Given the description of an element on the screen output the (x, y) to click on. 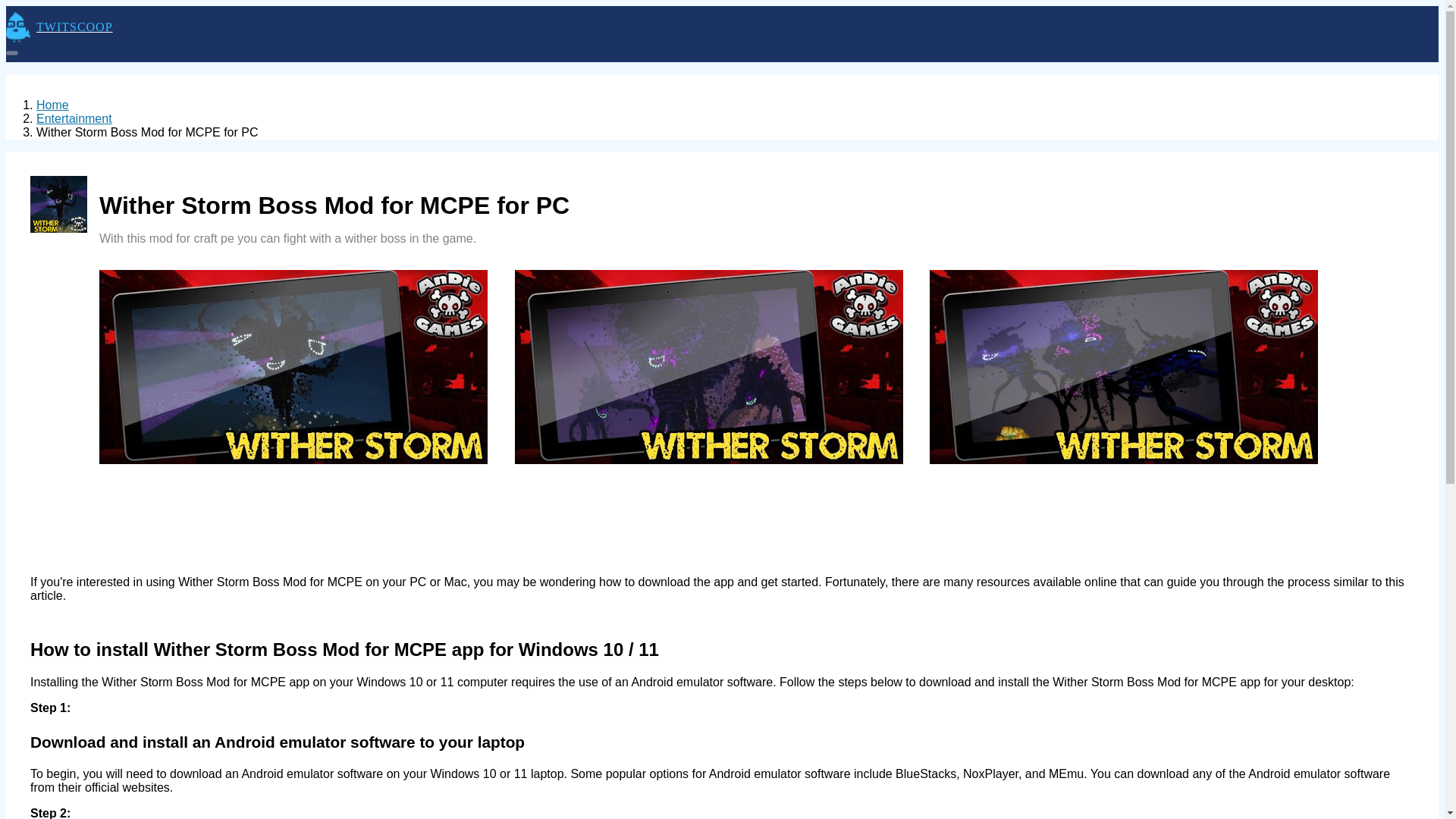
Entertainment (74, 118)
Wither Storm Boss Mod for MCPE (58, 204)
Wither Storm Boss Mod for MCPE pc screenshot 1 (1123, 367)
Wither Storm Boss Mod for MCPE pc screenshot 1 (293, 367)
Wither Storm Boss Mod for MCPE pc screenshot 1 (708, 367)
Home (52, 104)
